Given the description of an element on the screen output the (x, y) to click on. 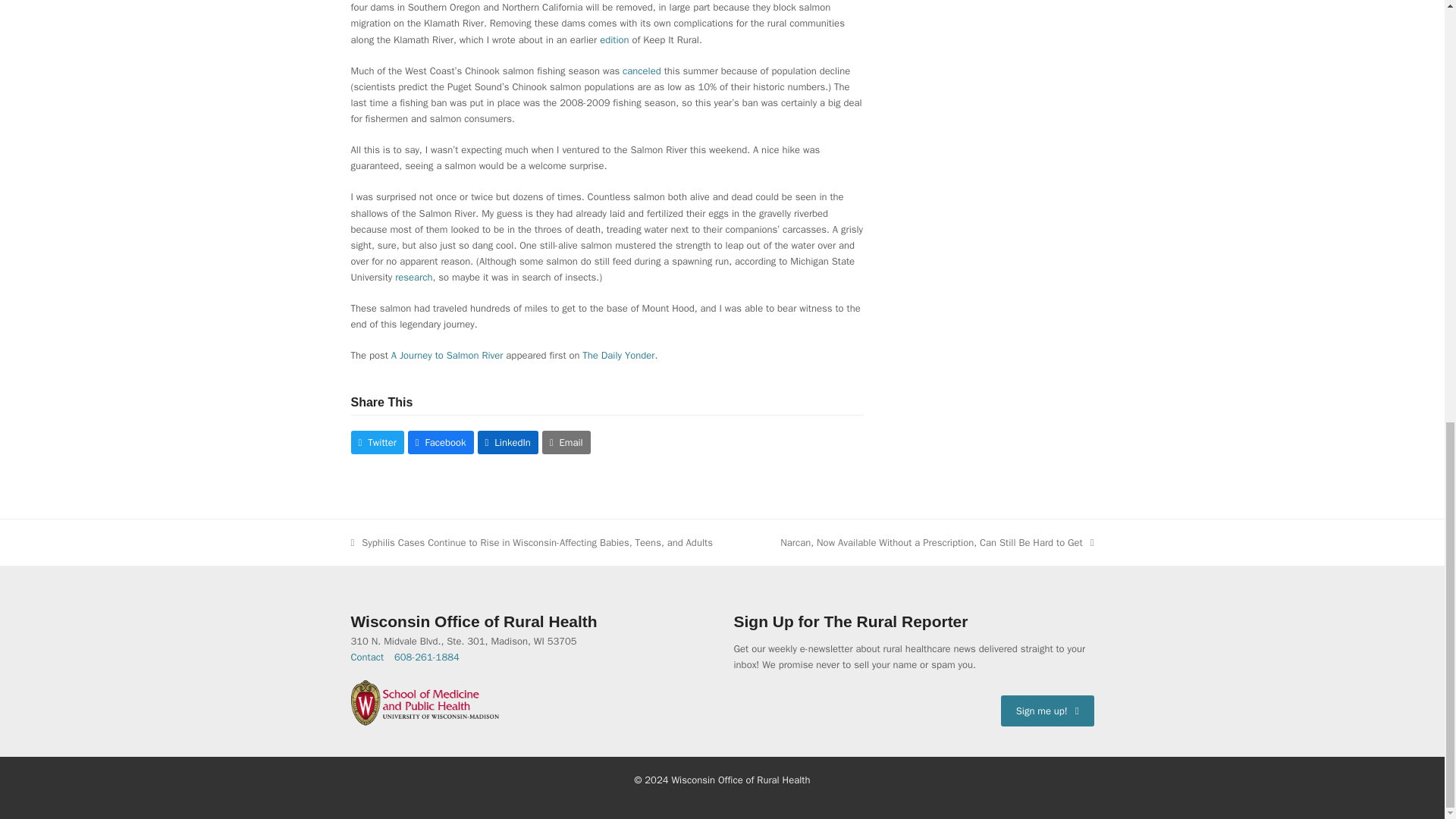
Twitter (376, 441)
A Journey to Salmon River (447, 354)
research (413, 277)
Email (566, 441)
The Daily Yonder (617, 354)
LinkedIn (507, 441)
canceled (642, 70)
Facebook (440, 441)
edition (613, 38)
